Given the description of an element on the screen output the (x, y) to click on. 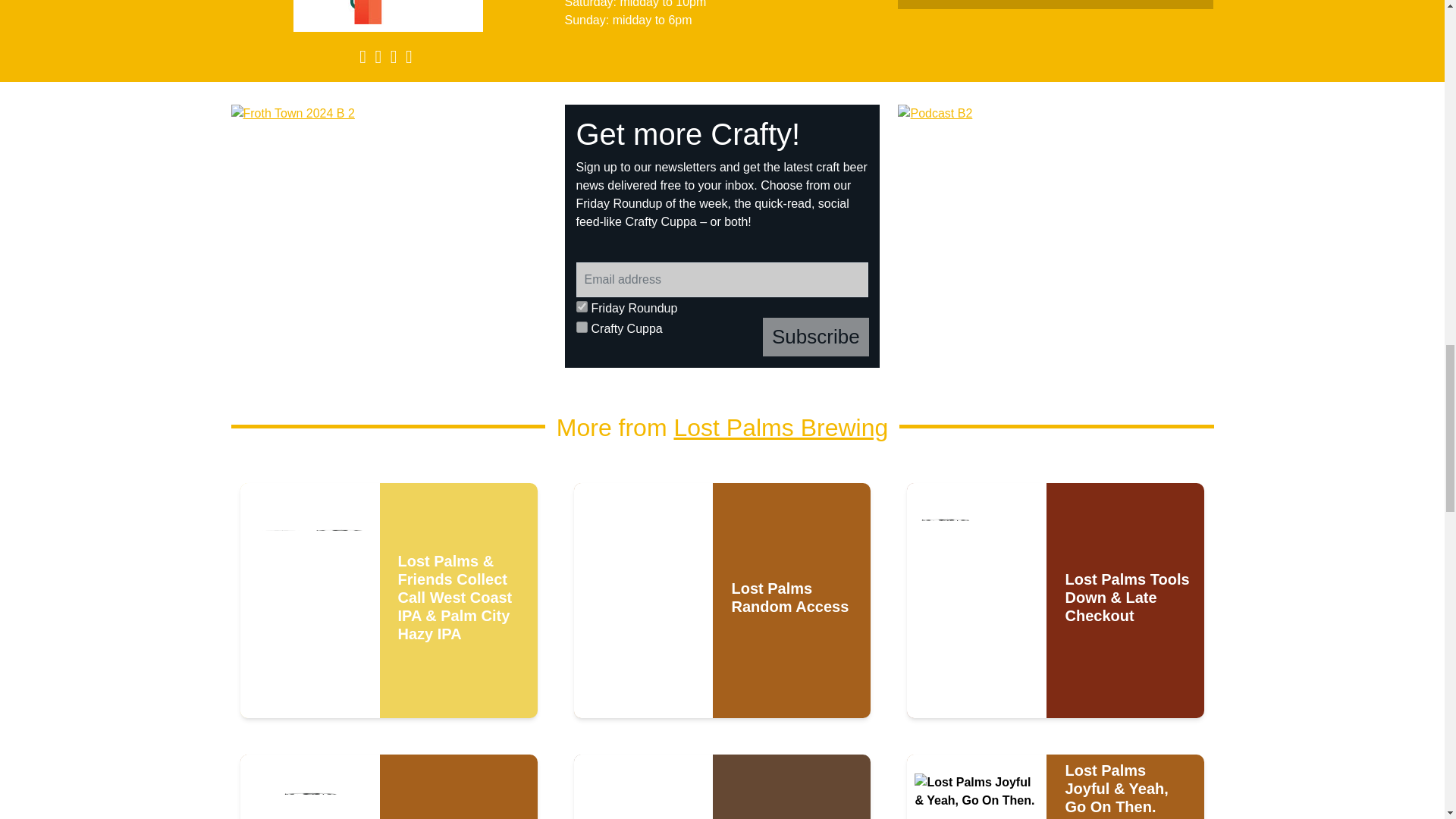
Subscribe (815, 336)
Podcast B2 (1055, 235)
cuppa (582, 326)
Froth Town 2024 B 2 (389, 235)
friday (582, 306)
